Given the description of an element on the screen output the (x, y) to click on. 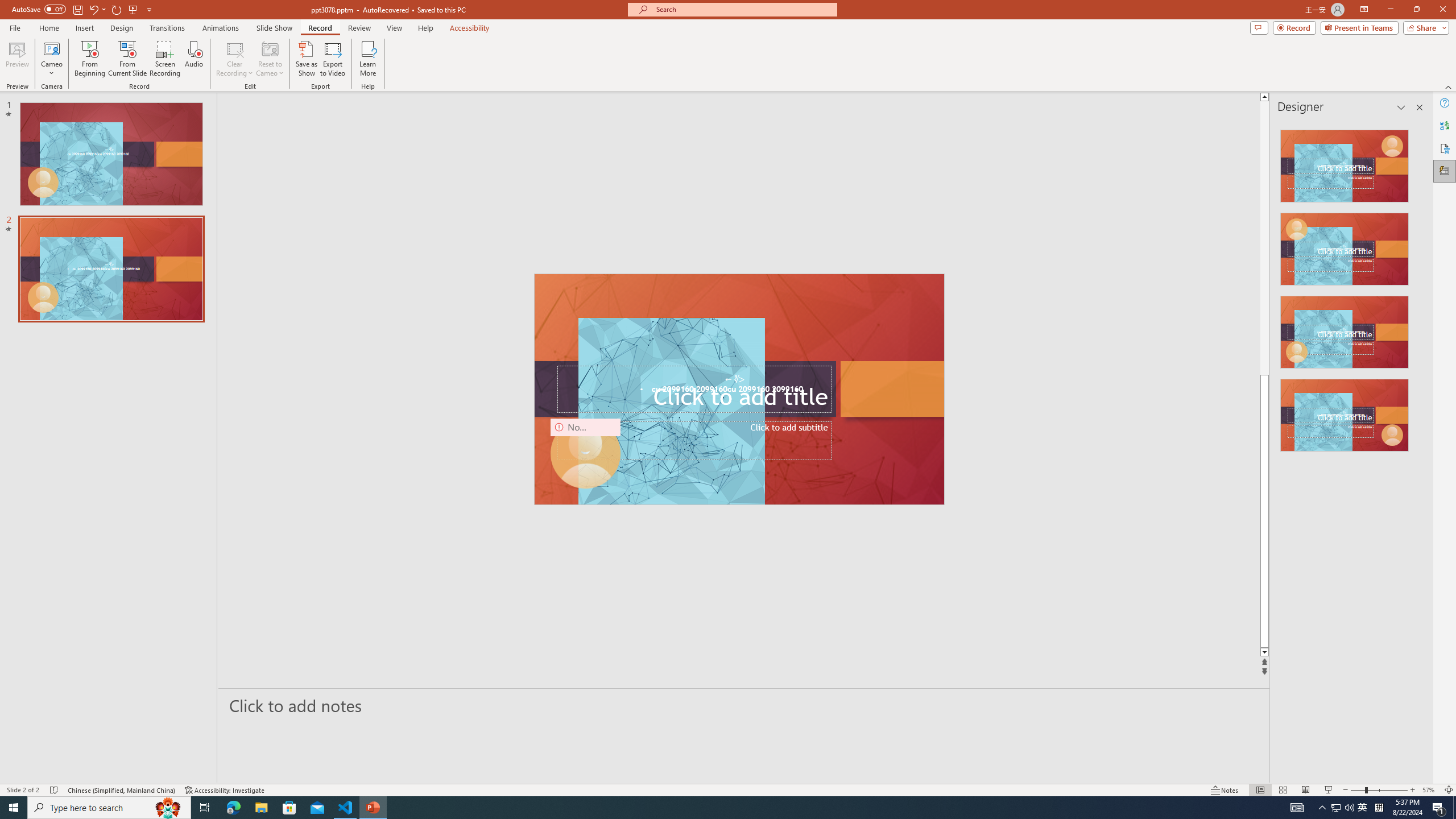
Zoom 57% (1430, 790)
